Given the description of an element on the screen output the (x, y) to click on. 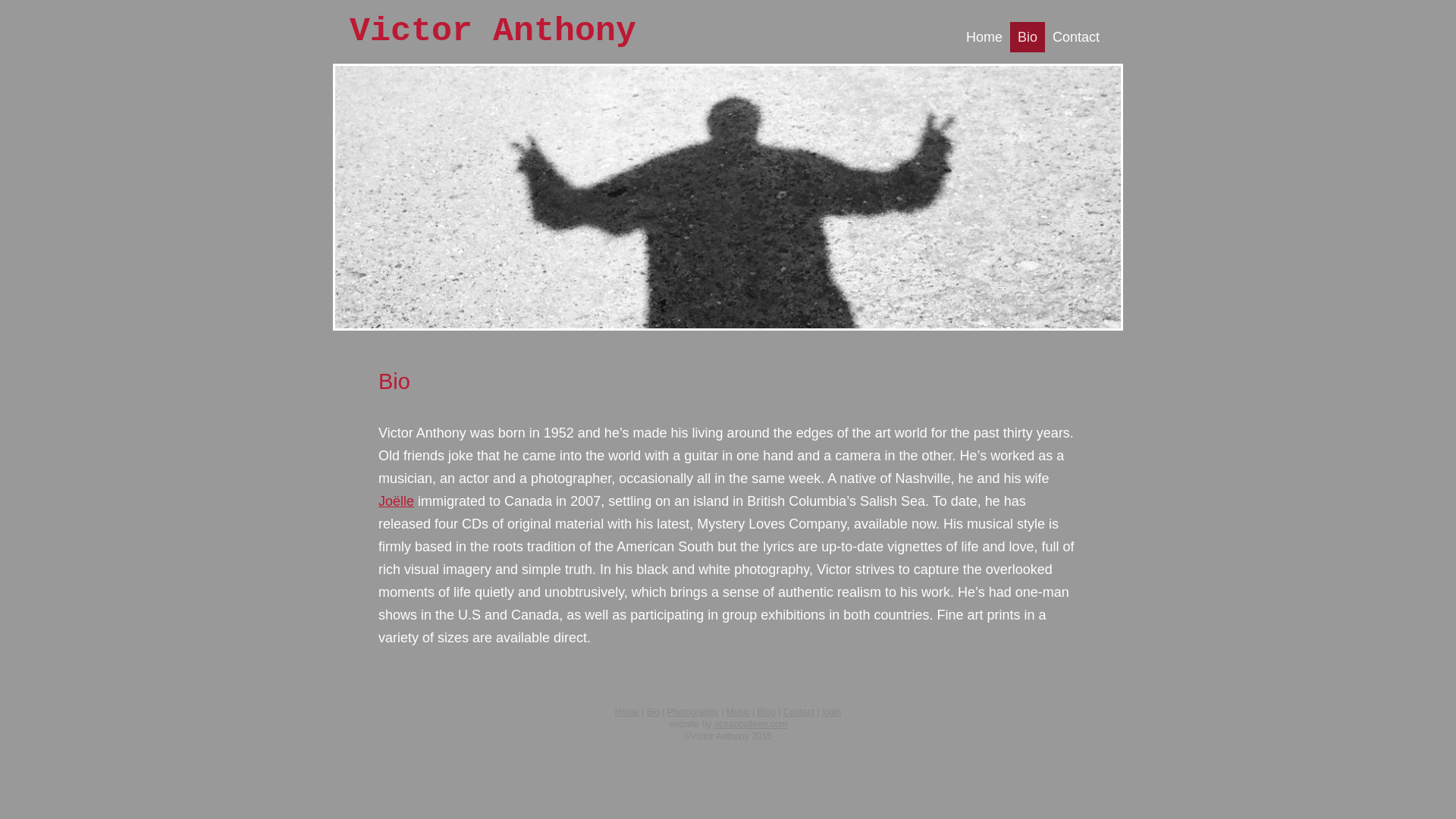
login (831, 711)
oceancolleen.com (750, 724)
Home (984, 37)
Victor Anthony (492, 31)
Contact (798, 711)
Bio (652, 711)
Music (737, 711)
Contact (1075, 37)
Photography (692, 711)
Bio (1027, 37)
Home (626, 711)
Blog (766, 711)
